Given the description of an element on the screen output the (x, y) to click on. 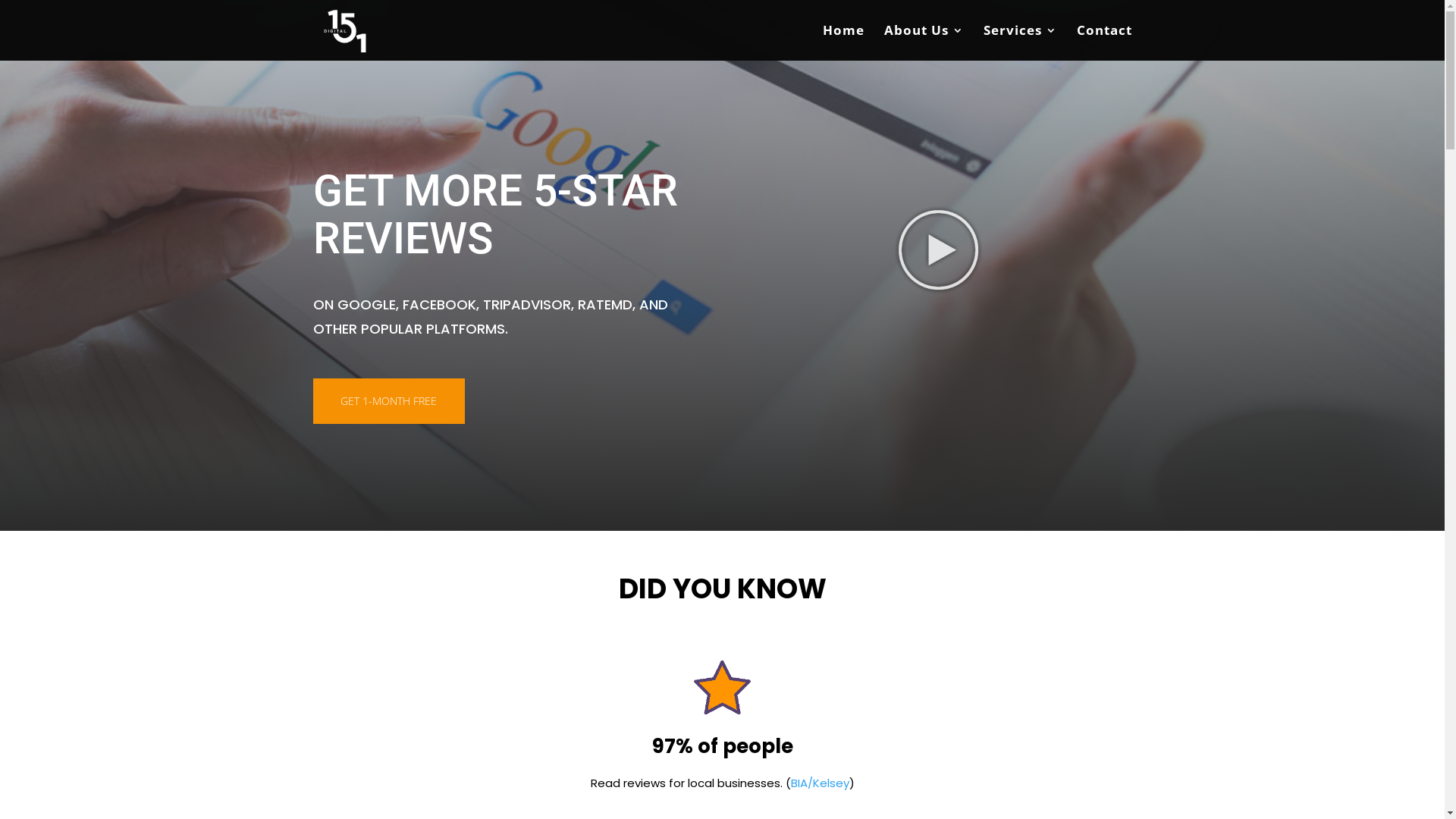
BIA/Kelsey Element type: text (819, 782)
GET 1-MONTH FREE Element type: text (388, 400)
Services Element type: text (1019, 42)
Home Element type: text (842, 42)
Contact Element type: text (1104, 42)
About Us Element type: text (923, 42)
